Given the description of an element on the screen output the (x, y) to click on. 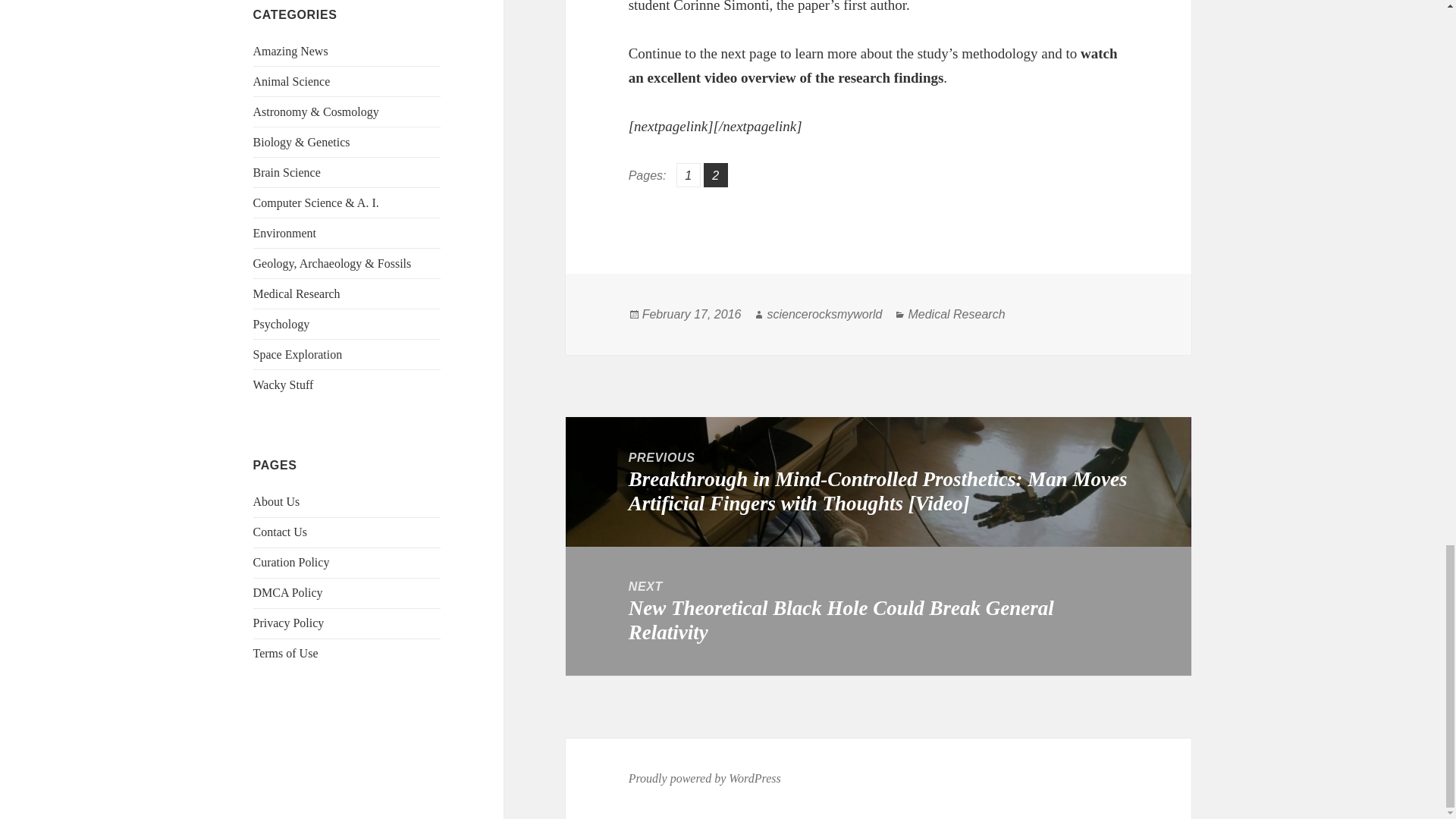
Animal Science (291, 81)
Environment (285, 232)
Amazing News (291, 51)
Brain Science (286, 172)
